Given the description of an element on the screen output the (x, y) to click on. 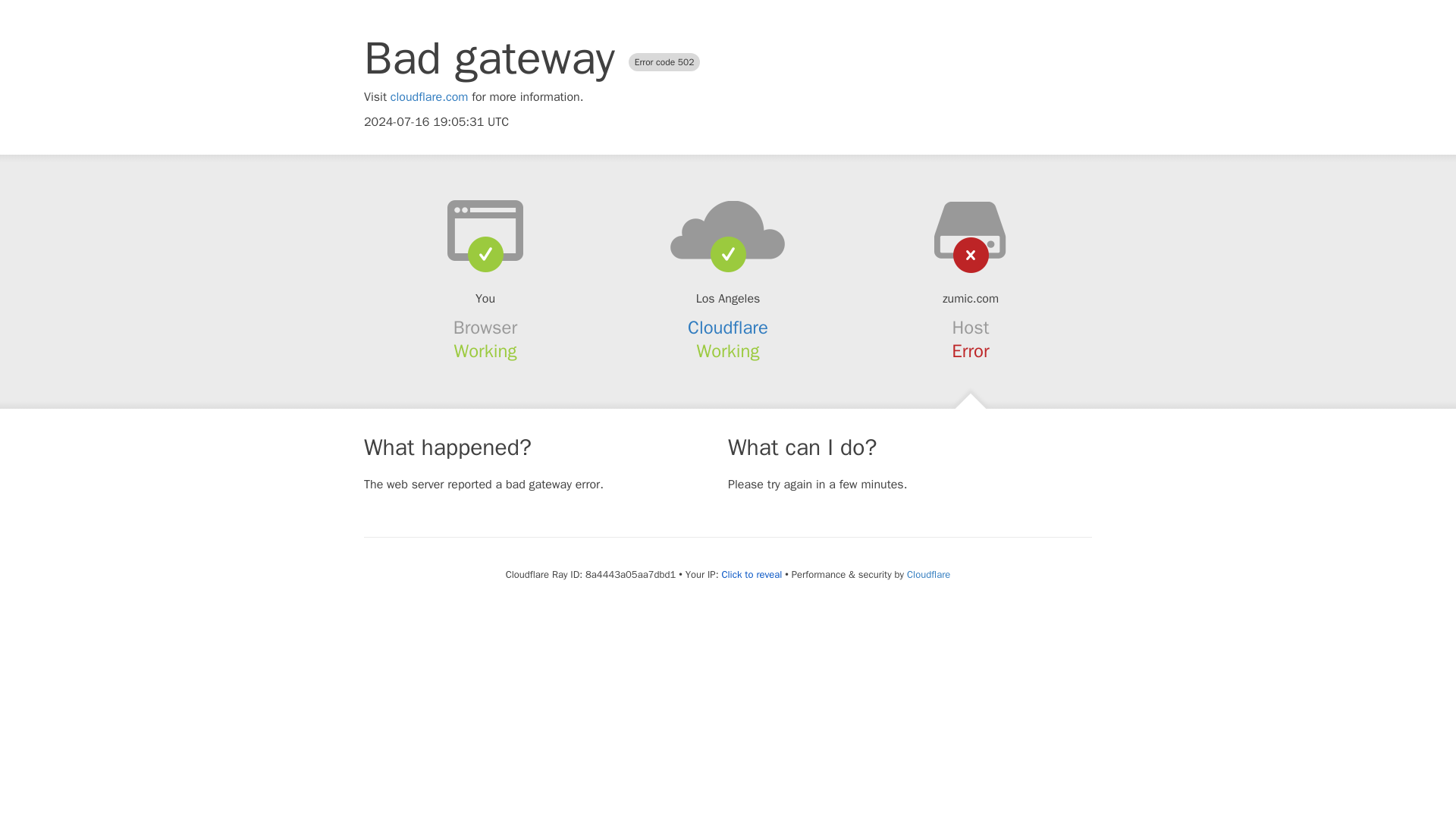
Cloudflare (727, 327)
cloudflare.com (429, 96)
Cloudflare (928, 574)
Click to reveal (750, 574)
